Given the description of an element on the screen output the (x, y) to click on. 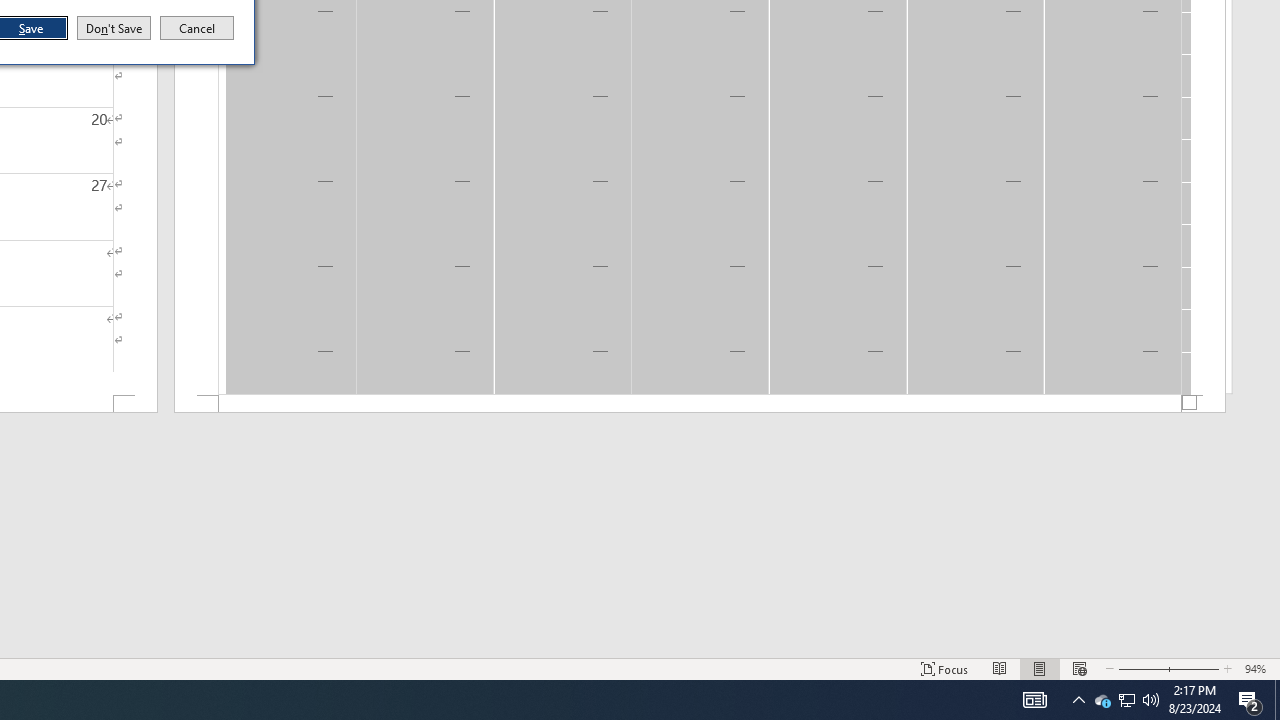
Footer -Section 1- (700, 404)
User Promoted Notification Area (1126, 699)
AutomationID: 4105 (1034, 699)
